Given the description of an element on the screen output the (x, y) to click on. 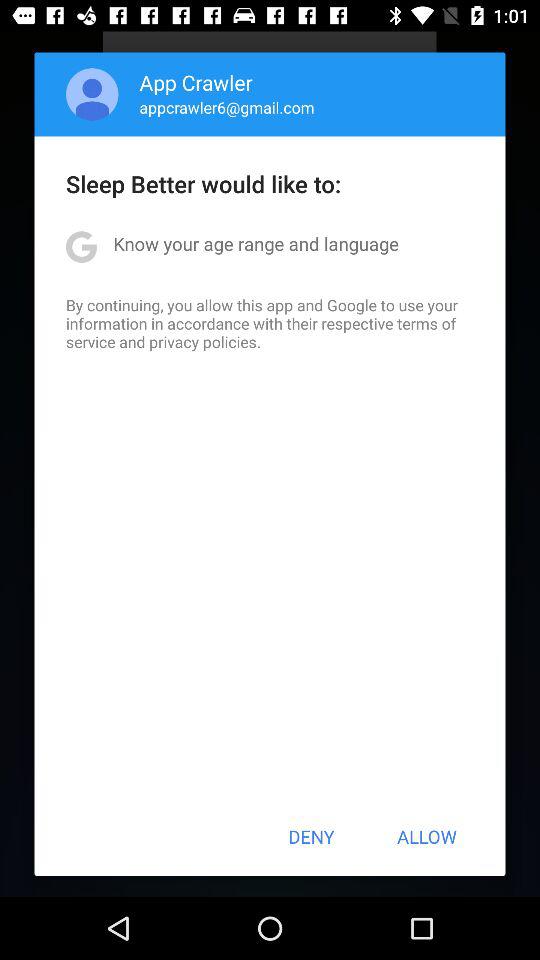
open icon above the sleep better would item (92, 94)
